Given the description of an element on the screen output the (x, y) to click on. 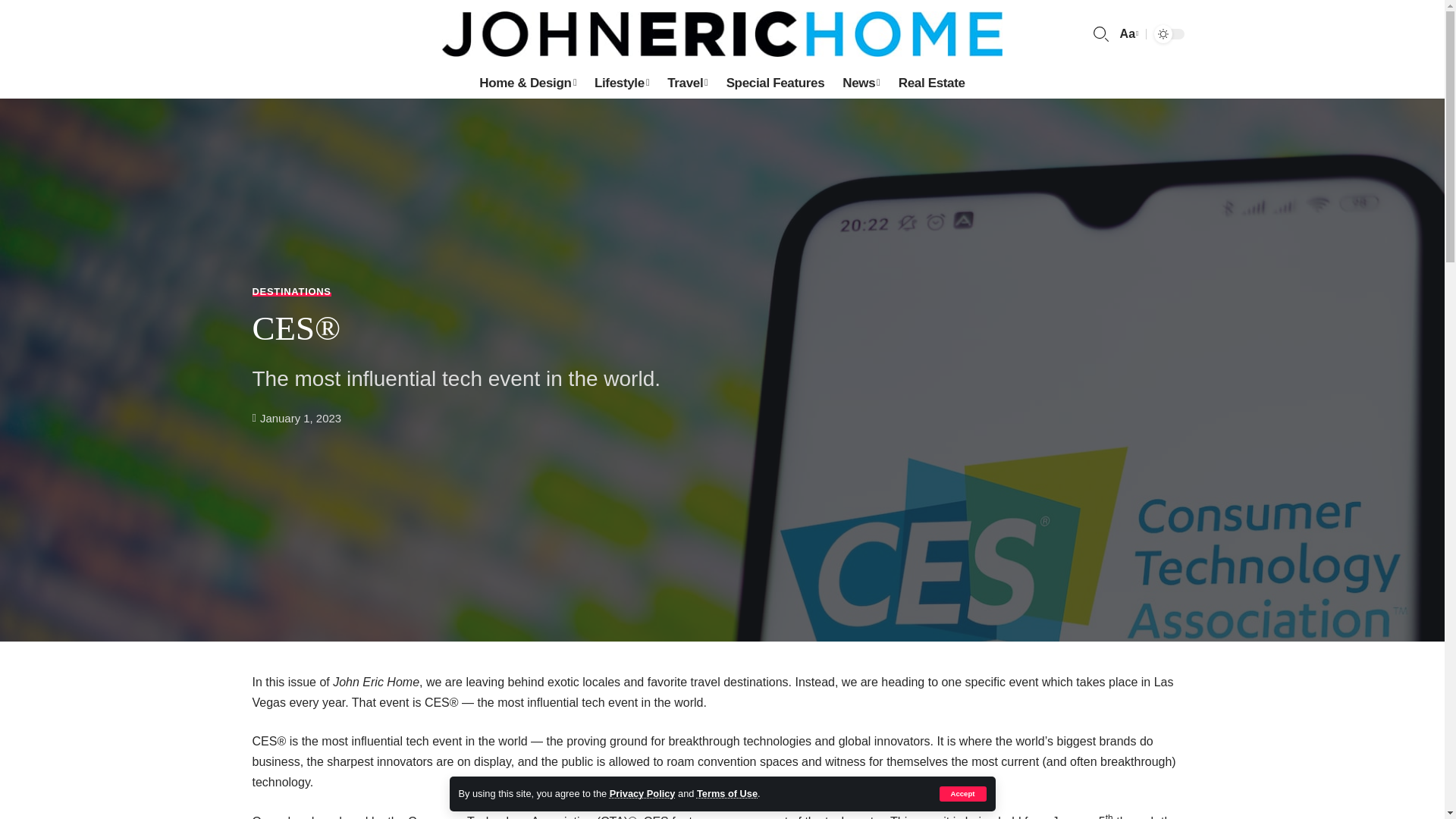
Accept (962, 793)
Special Features (775, 82)
Terms of Use (727, 793)
Travel (687, 82)
John Eric Home Magazine (721, 33)
Lifestyle (621, 82)
Real Estate (931, 82)
News (860, 82)
Privacy Policy (642, 793)
Aa (1127, 33)
